Given the description of an element on the screen output the (x, y) to click on. 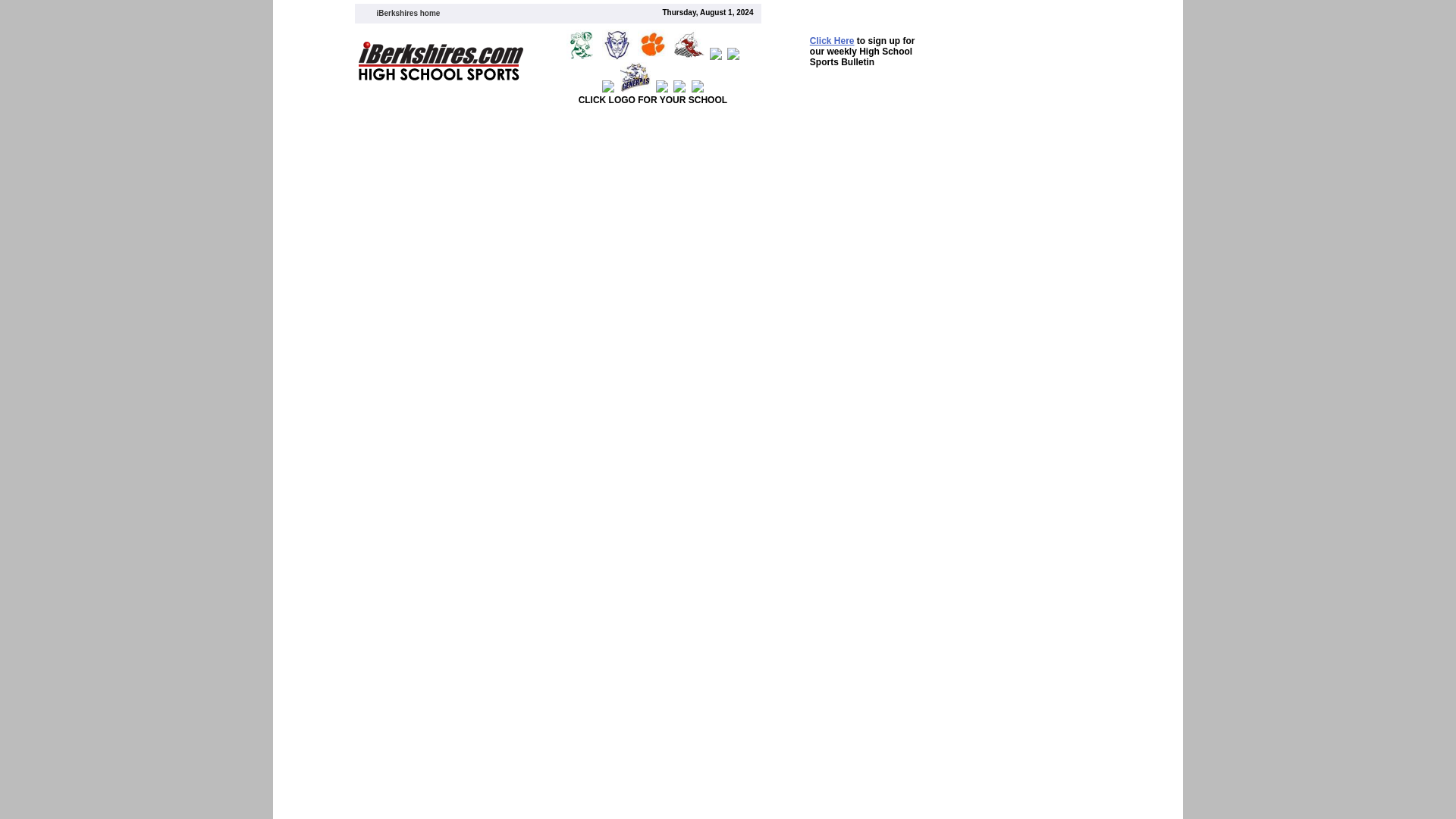
iBerkshires home (407, 13)
Click Here (831, 40)
Iberkshires.com (407, 13)
